Given the description of an element on the screen output the (x, y) to click on. 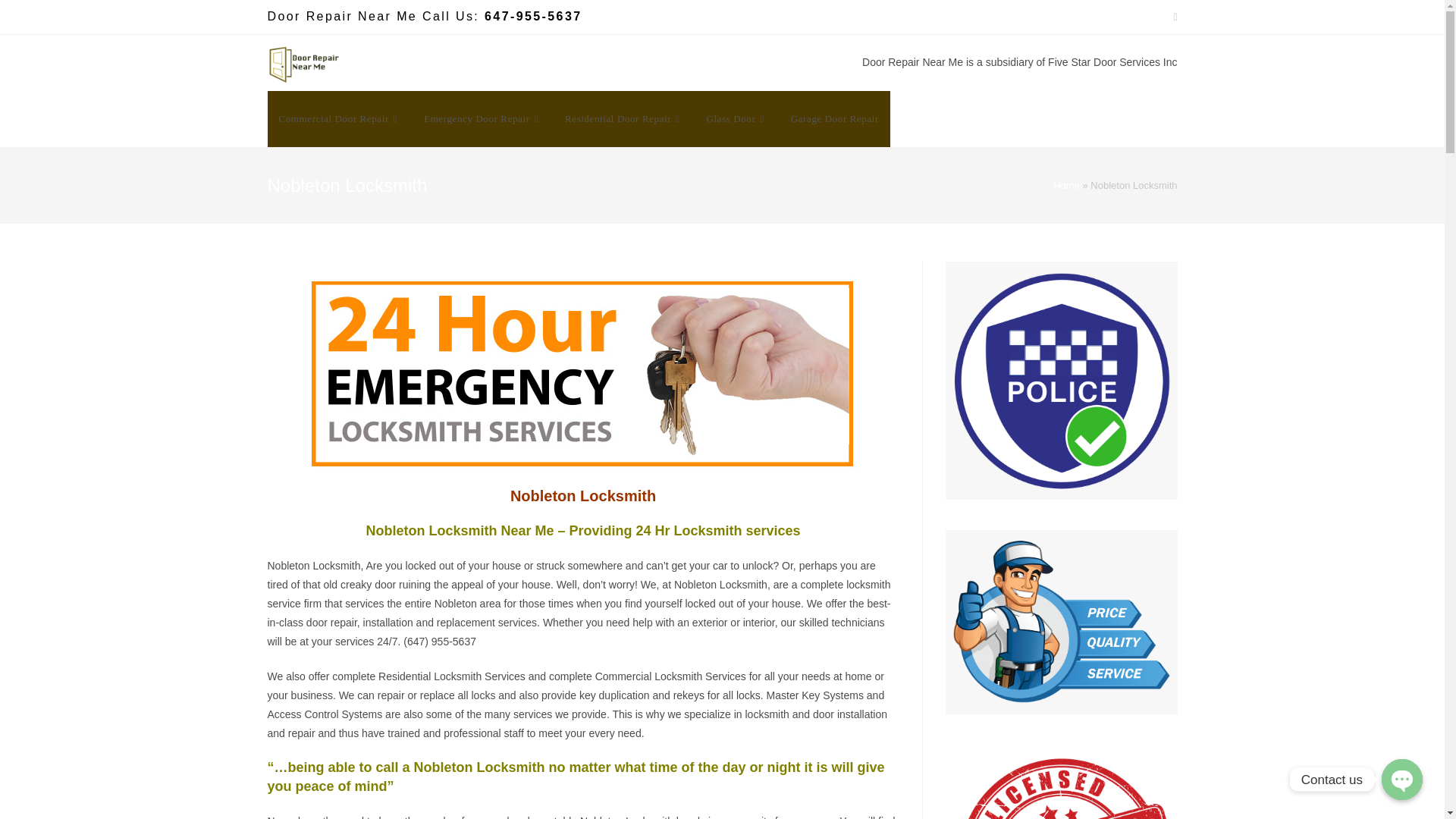
Glass Door (736, 118)
Residential Door Repair (624, 118)
Garage Door Repair (833, 118)
647-955-5637 (532, 15)
Emergency Door Repair (482, 118)
Commercial Door Repair (339, 118)
